Given the description of an element on the screen output the (x, y) to click on. 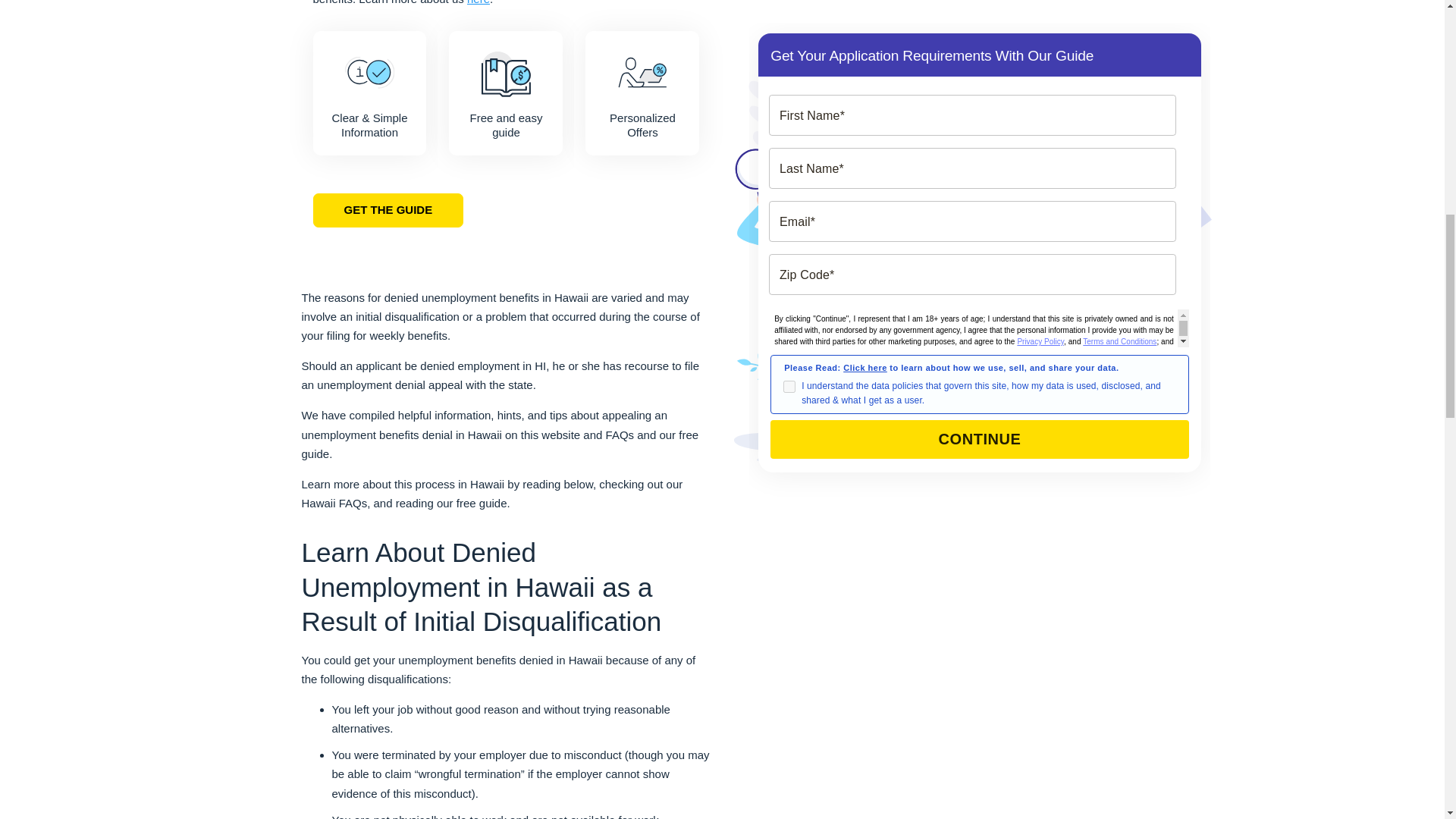
GET THE GUIDE (388, 210)
here (478, 2)
